Given the description of an element on the screen output the (x, y) to click on. 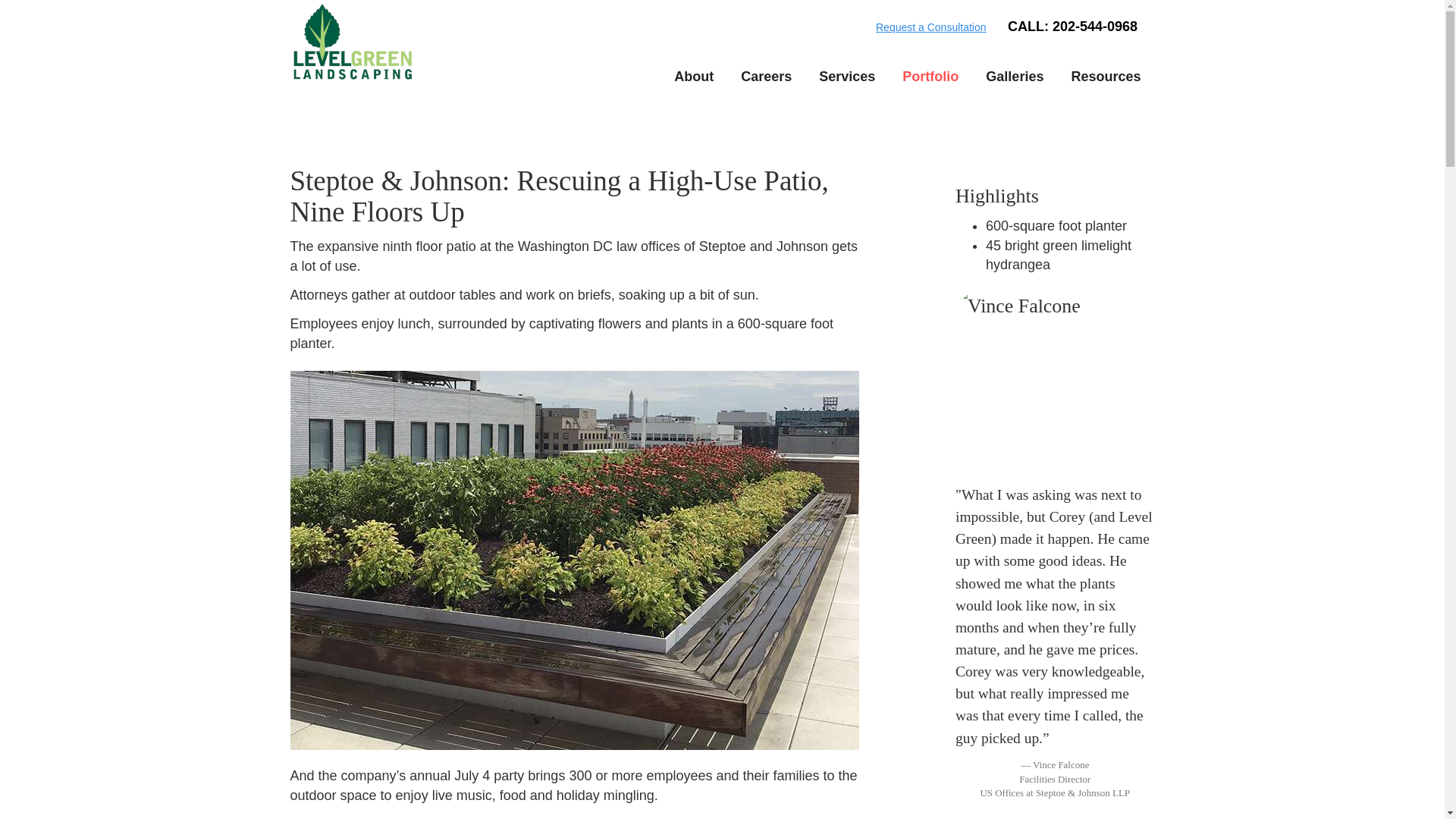
Galleries (1014, 77)
About (693, 77)
Careers (765, 77)
Portfolio (930, 77)
Level Green Landscaping (351, 38)
CALL: 202-544-0968 (1072, 25)
Services (846, 77)
